Given the description of an element on the screen output the (x, y) to click on. 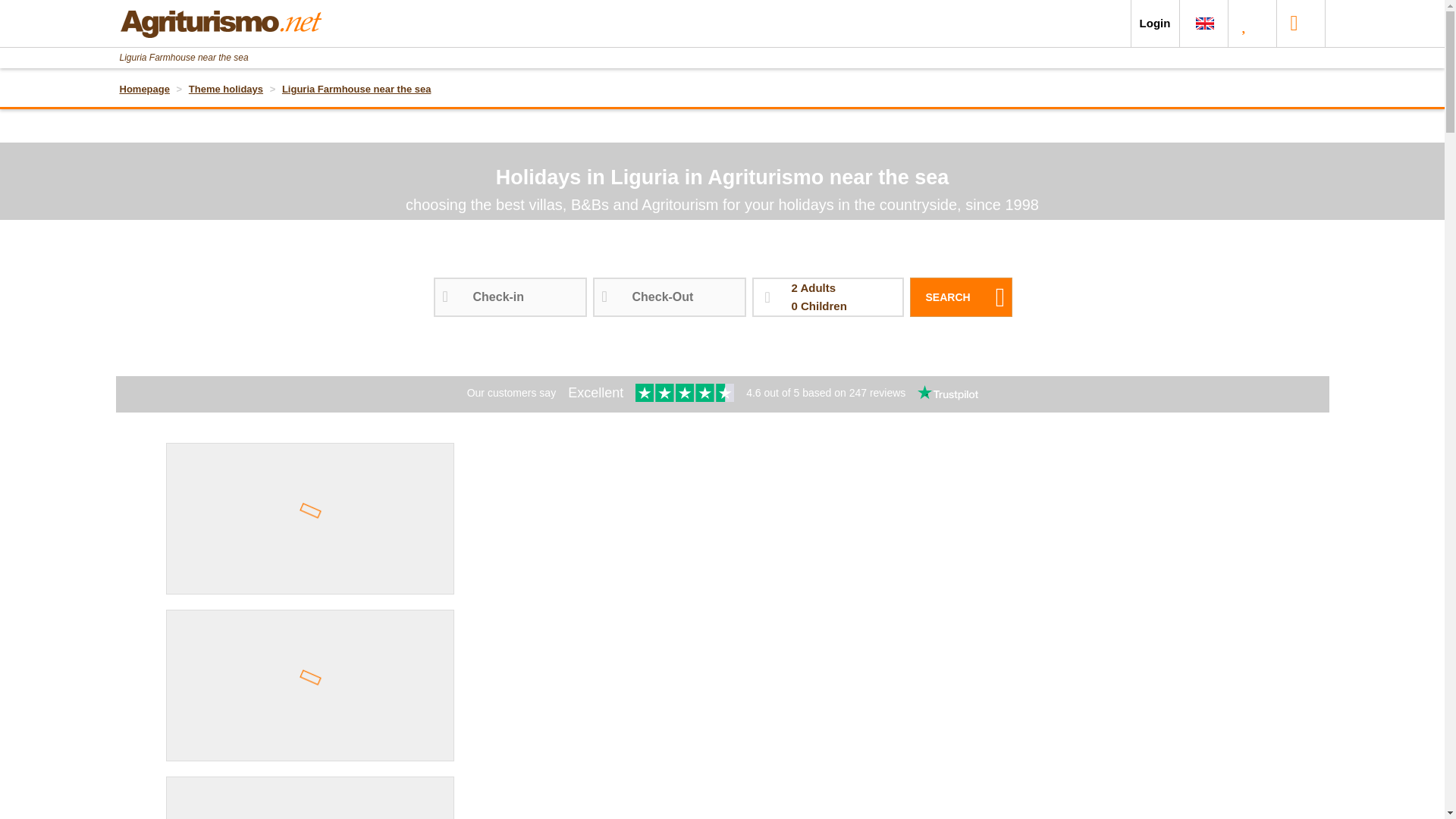
Login (1155, 23)
Homepage (144, 89)
Customer reviews powered by Trustpilot (722, 394)
Liguria Farmhouse near the sea (356, 89)
Liguria Farmhouse near the sea (356, 89)
Theme holidays (828, 297)
Agriturismo.net (226, 89)
SEARCH (220, 17)
Logo Agriturismo.net (960, 296)
